Given the description of an element on the screen output the (x, y) to click on. 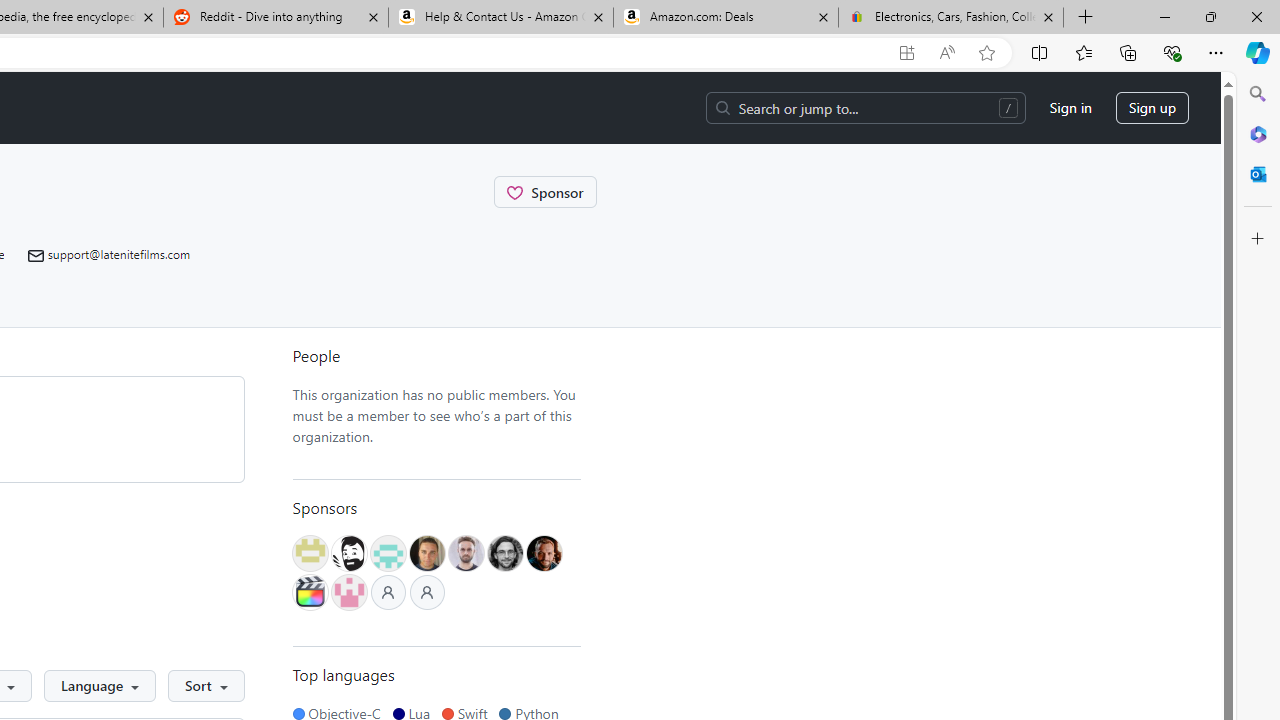
Sign up (1152, 107)
@jbrunson83 (349, 552)
@thermidorthelobster (349, 592)
Language (99, 686)
Private Sponsor (427, 592)
@elzotto (309, 592)
App available. Install GitHub (906, 53)
Sponsor @CommandPost (545, 191)
@samplue (465, 552)
@florian-duffe (504, 552)
Amazon.com: Deals (726, 17)
People (436, 355)
